Given the description of an element on the screen output the (x, y) to click on. 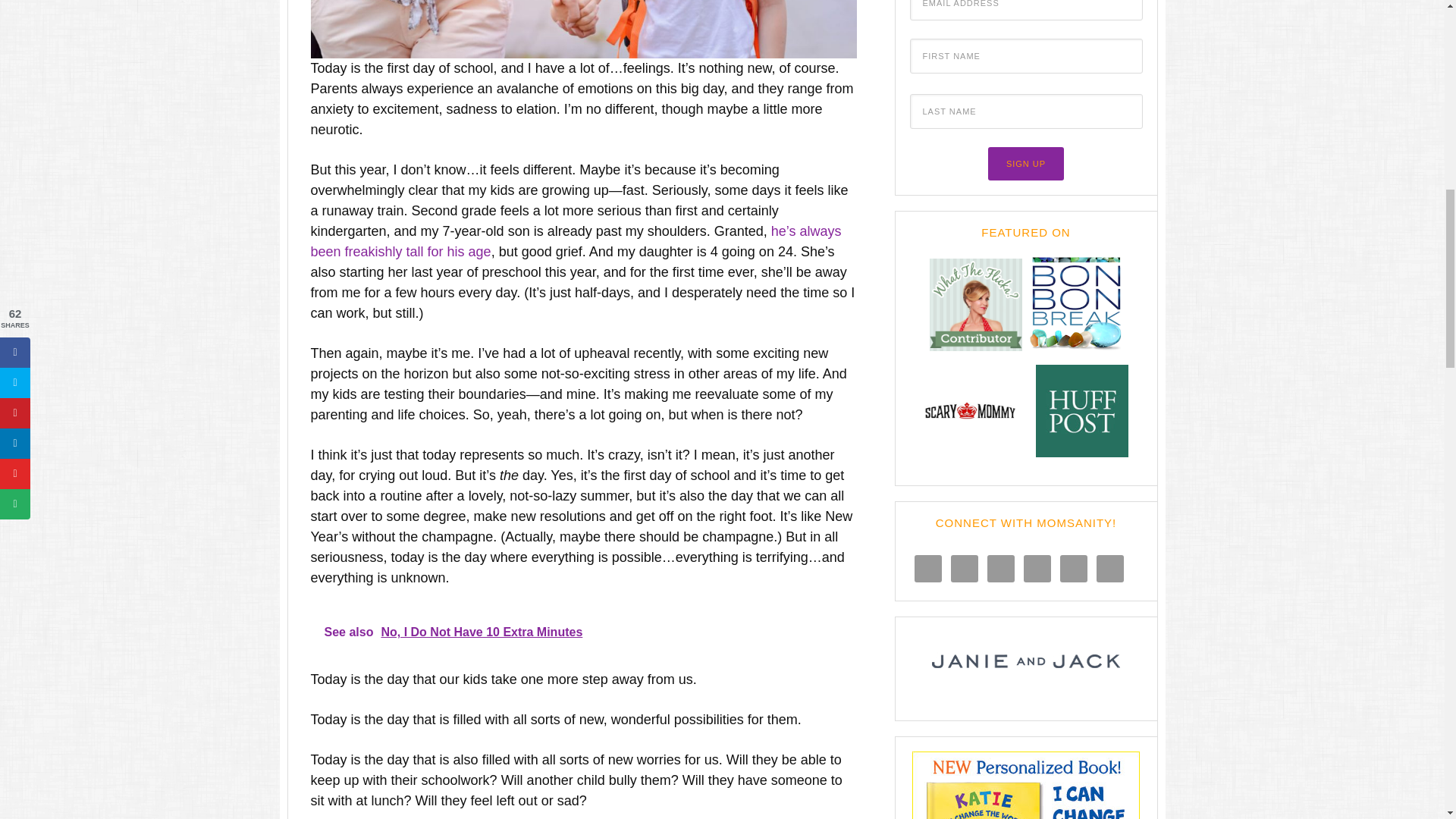
Scary Mommy (969, 459)
See also  No, I Do Not Have 10 Extra Minutes (584, 632)
Sign up (1026, 163)
